Given the description of an element on the screen output the (x, y) to click on. 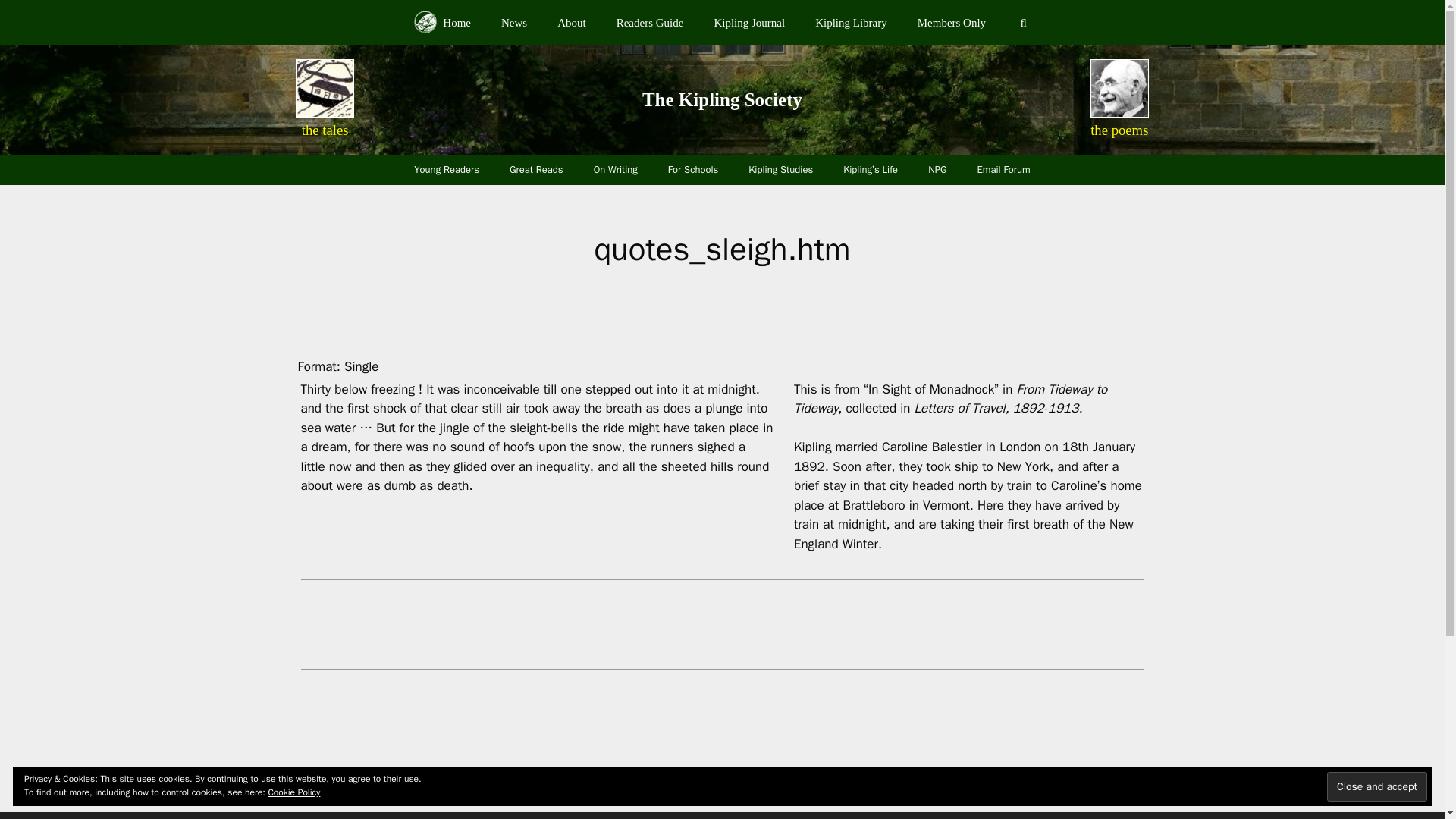
Home (442, 22)
Kipling Library (850, 22)
NPG (936, 169)
The Kipling Society (722, 99)
Kipling Journal (748, 22)
Great Reads (536, 169)
Kipling Studies (780, 169)
the tales (325, 130)
About (571, 22)
On Writing (615, 169)
